Given the description of an element on the screen output the (x, y) to click on. 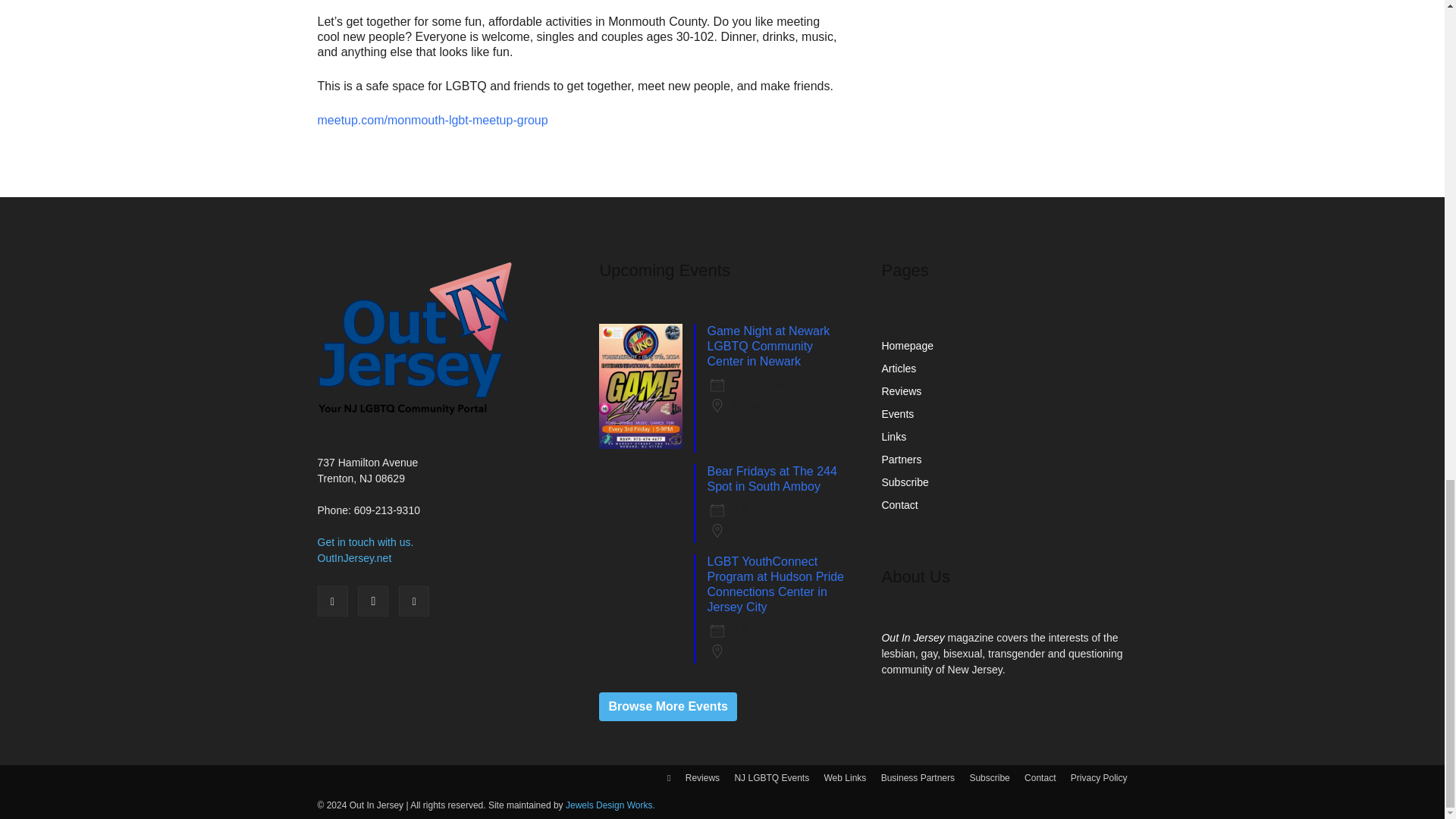
Out In Jersey Magazine (414, 337)
Instagram (373, 601)
Twitter (413, 601)
Facebook (332, 601)
